Given the description of an element on the screen output the (x, y) to click on. 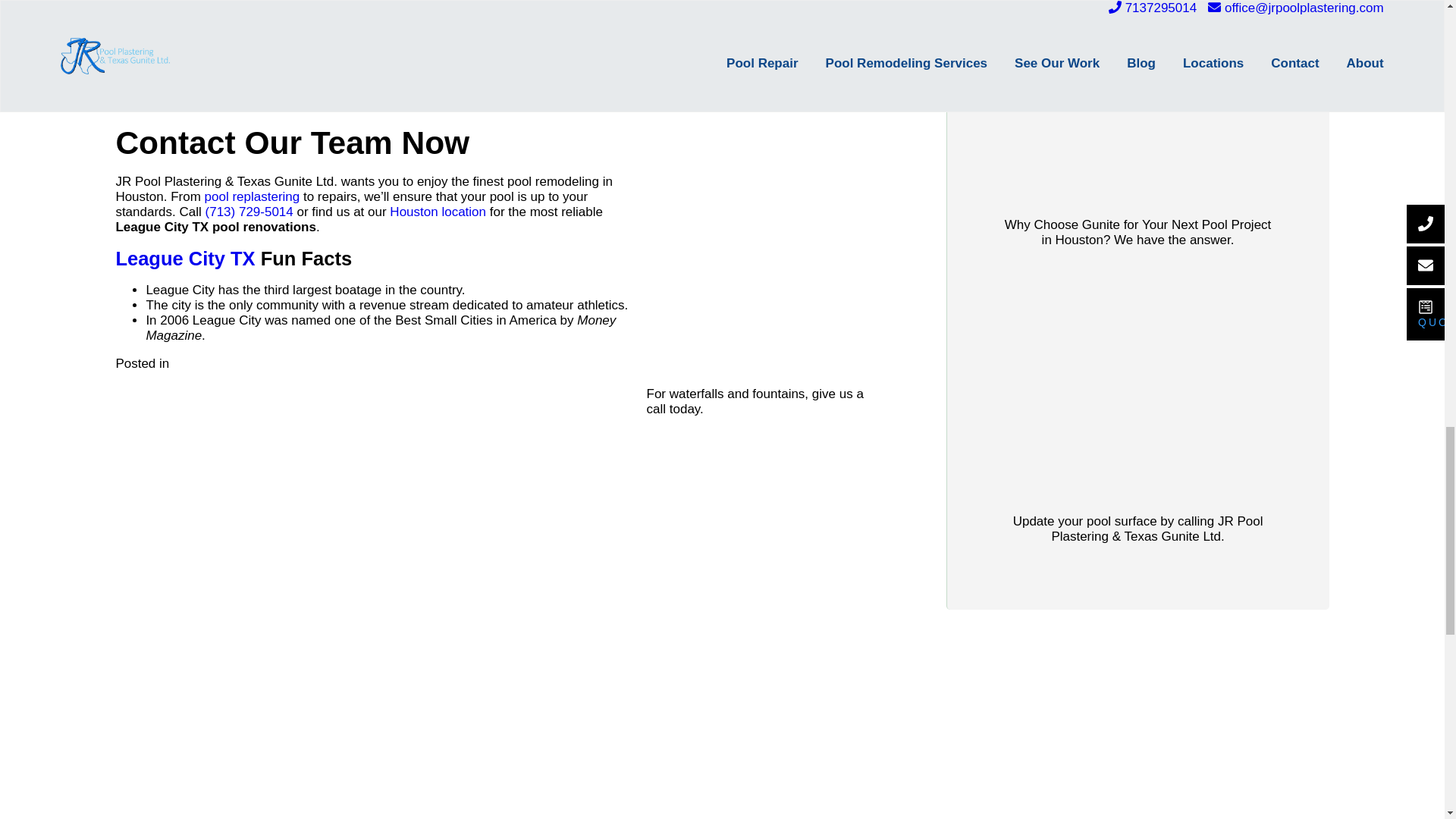
pool replastering (252, 196)
Houston location (438, 211)
